Given the description of an element on the screen output the (x, y) to click on. 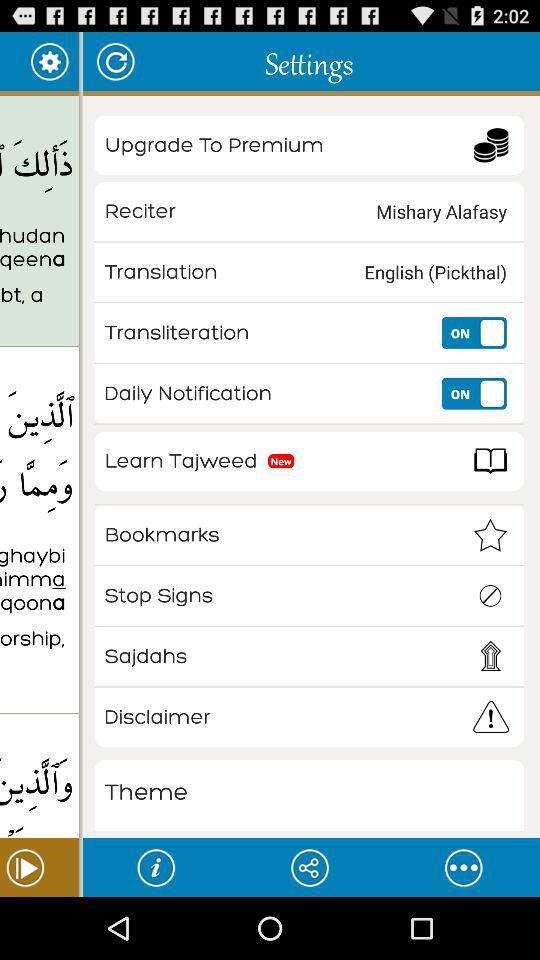
turn off thalika alkitabu la (39, 247)
